Given the description of an element on the screen output the (x, y) to click on. 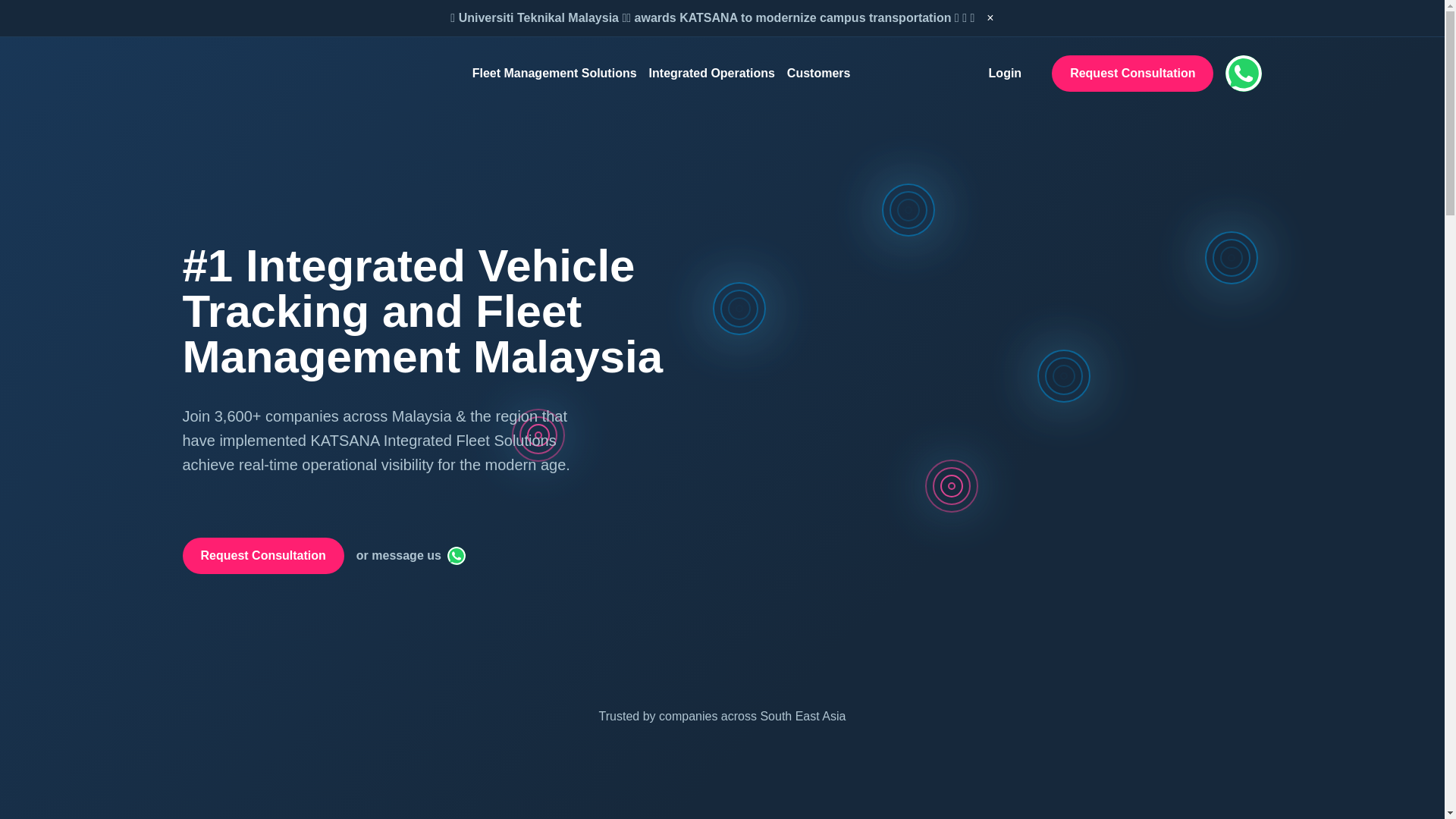
Request Consultation (262, 555)
Customers (818, 73)
WhatsApp (455, 556)
Login (1005, 73)
or message usWhatsApp (410, 556)
Integrated Operations (711, 73)
Fleet Management Solutions (554, 73)
Request Consultation (1131, 73)
